Given the description of an element on the screen output the (x, y) to click on. 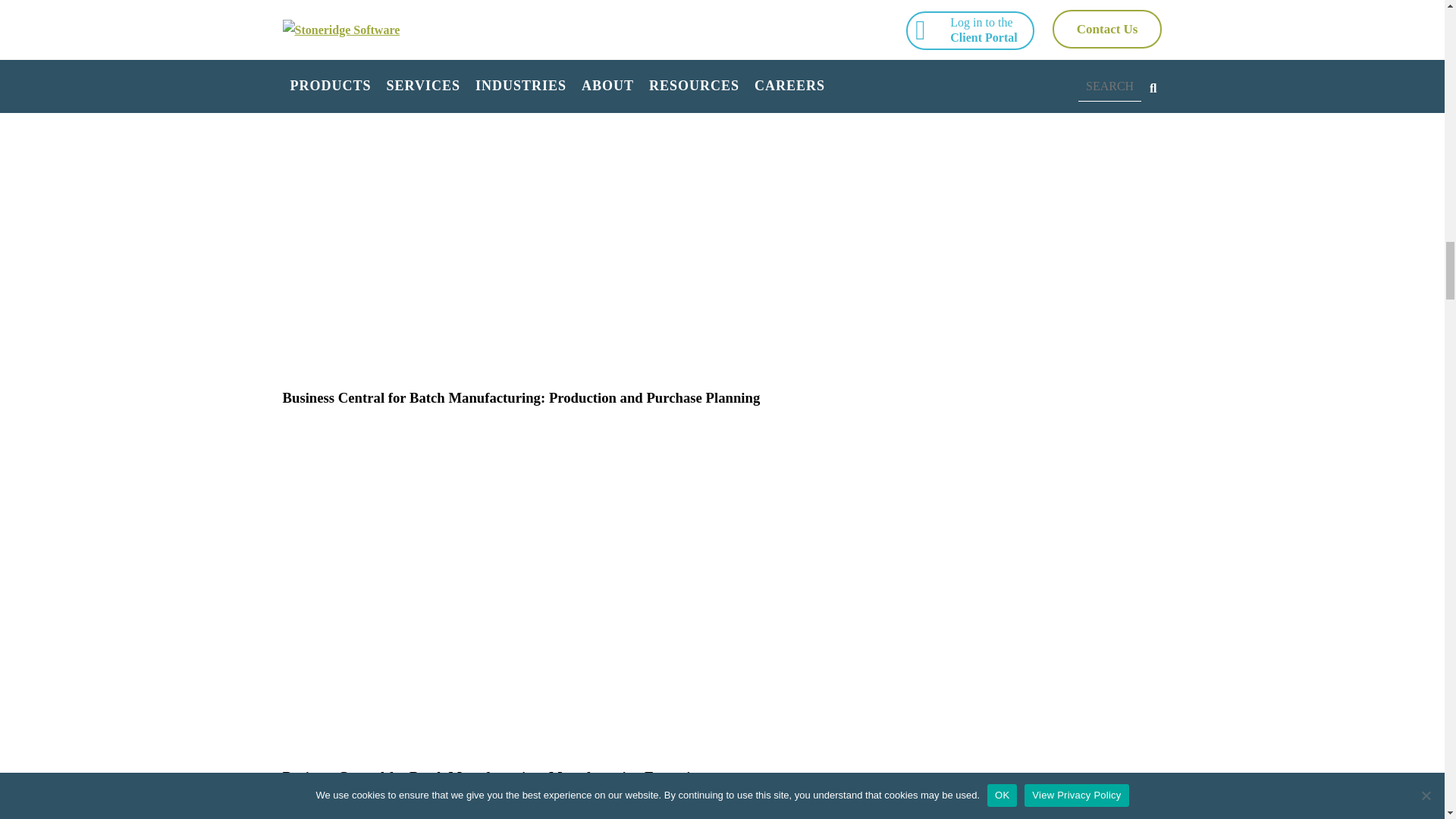
YouTube video player (494, 804)
